Given the description of an element on the screen output the (x, y) to click on. 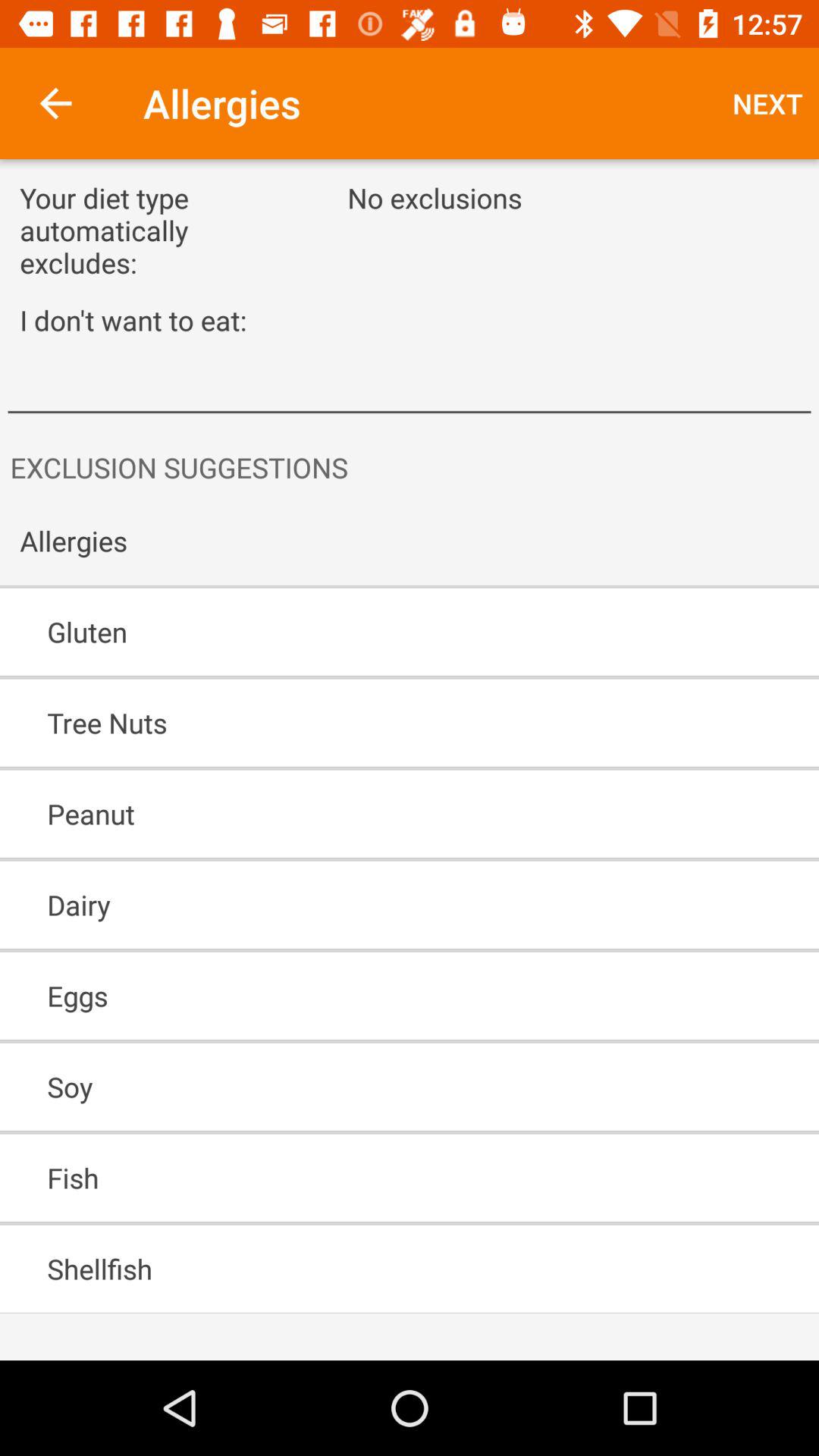
tap dairy icon (365, 904)
